Given the description of an element on the screen output the (x, y) to click on. 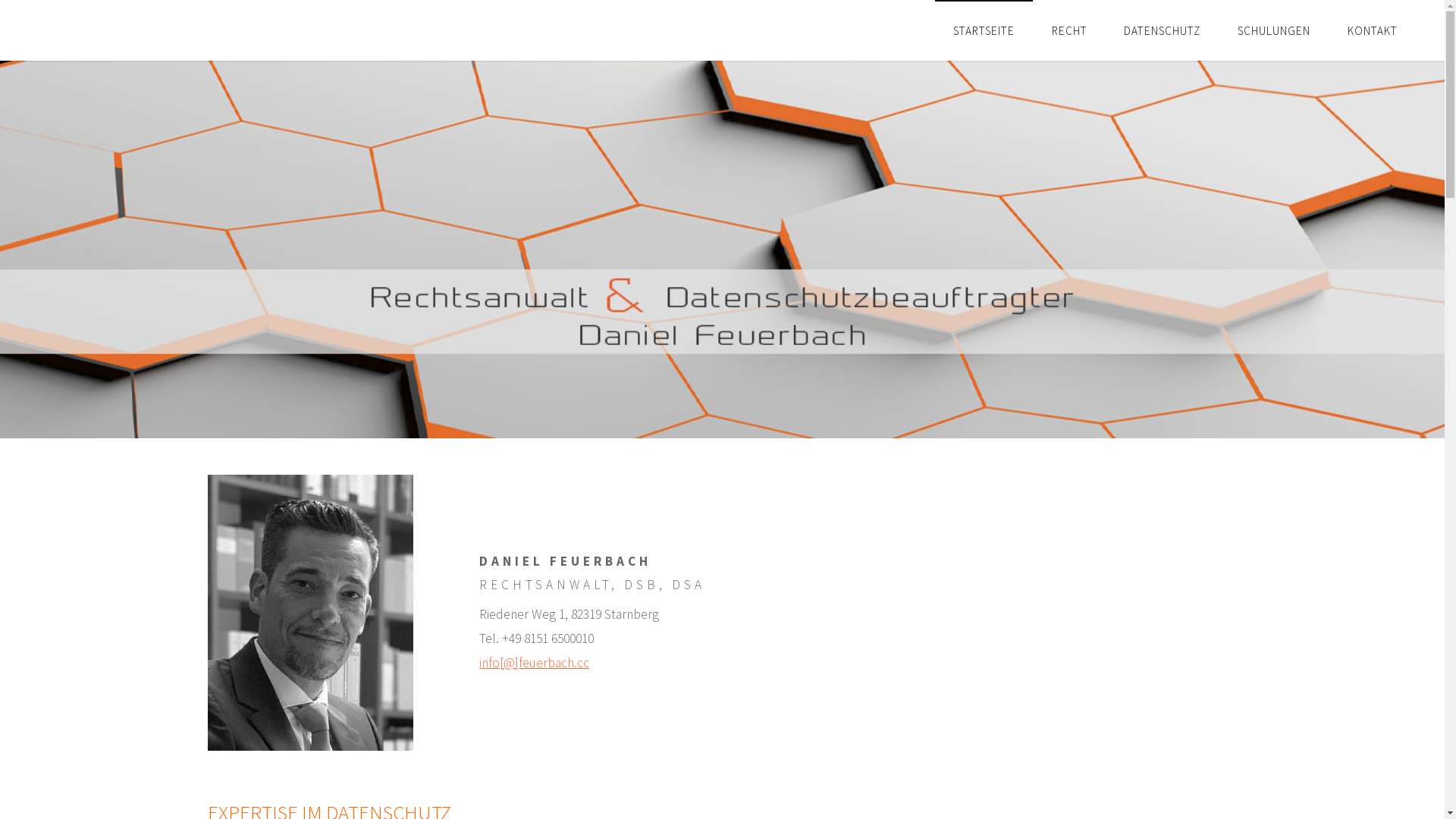
KONTAKT Element type: text (1371, 30)
info[@]feuerbach.cc Element type: text (534, 662)
RECHT Element type: text (1068, 30)
STARTSEITE Element type: text (984, 30)
DATENSCHUTZ Element type: text (1162, 30)
SCHULUNGEN Element type: text (1274, 30)
Datenschutzbeauftragter & Datenschutzauditor Element type: hover (40, 195)
